Given the description of an element on the screen output the (x, y) to click on. 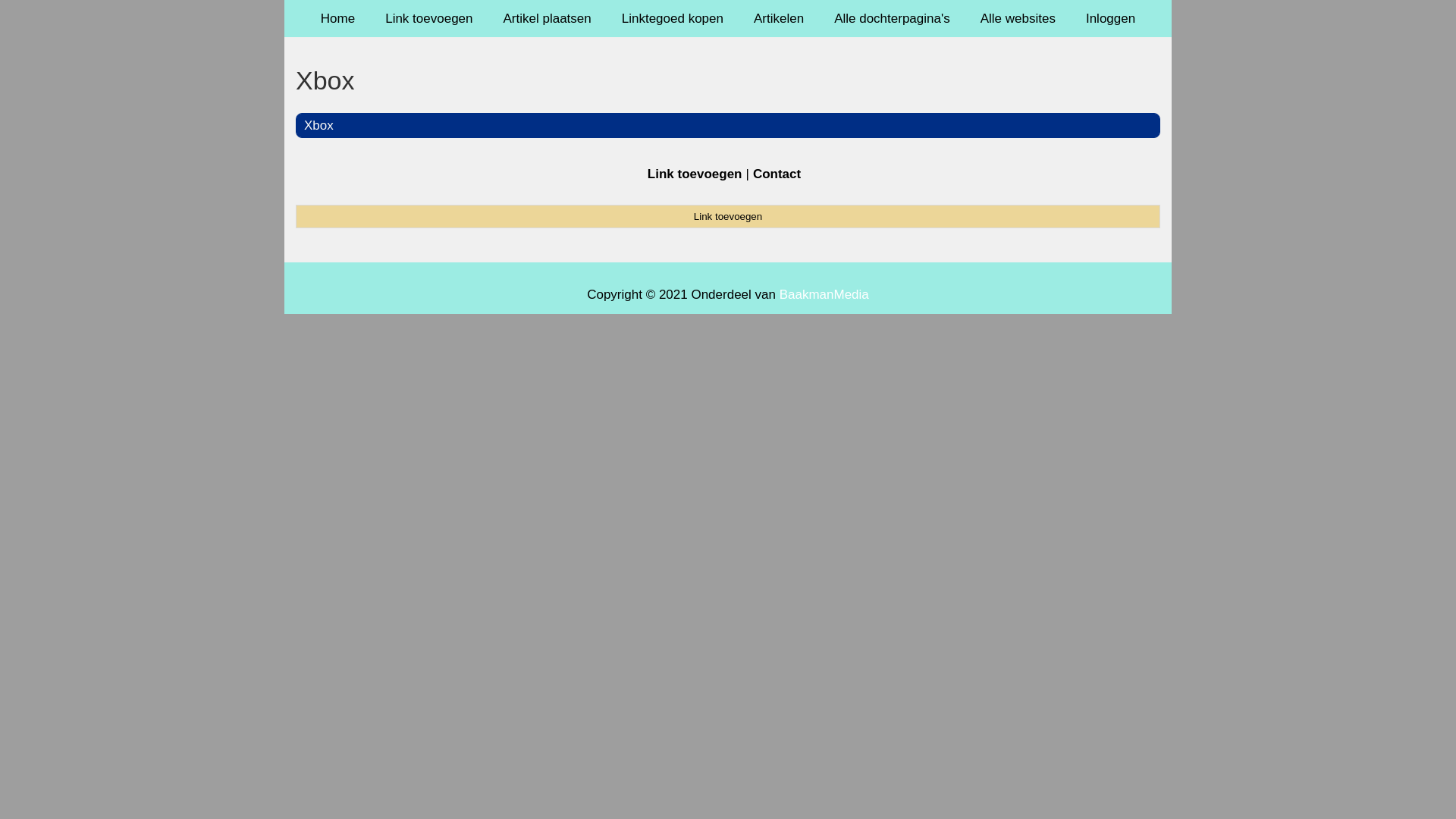
Link toevoegen Element type: text (727, 215)
Link toevoegen Element type: text (694, 173)
Artikel plaatsen Element type: text (547, 18)
Linktegoed kopen Element type: text (672, 18)
Inloggen Element type: text (1110, 18)
BaakmanMedia Element type: text (824, 294)
Home Element type: text (337, 18)
Link toevoegen Element type: text (428, 18)
Alle websites Element type: text (1017, 18)
Xbox Element type: text (727, 80)
Xbox Element type: text (318, 125)
Artikelen Element type: text (778, 18)
Contact Element type: text (776, 173)
Alle dochterpagina's Element type: text (892, 18)
